Given the description of an element on the screen output the (x, y) to click on. 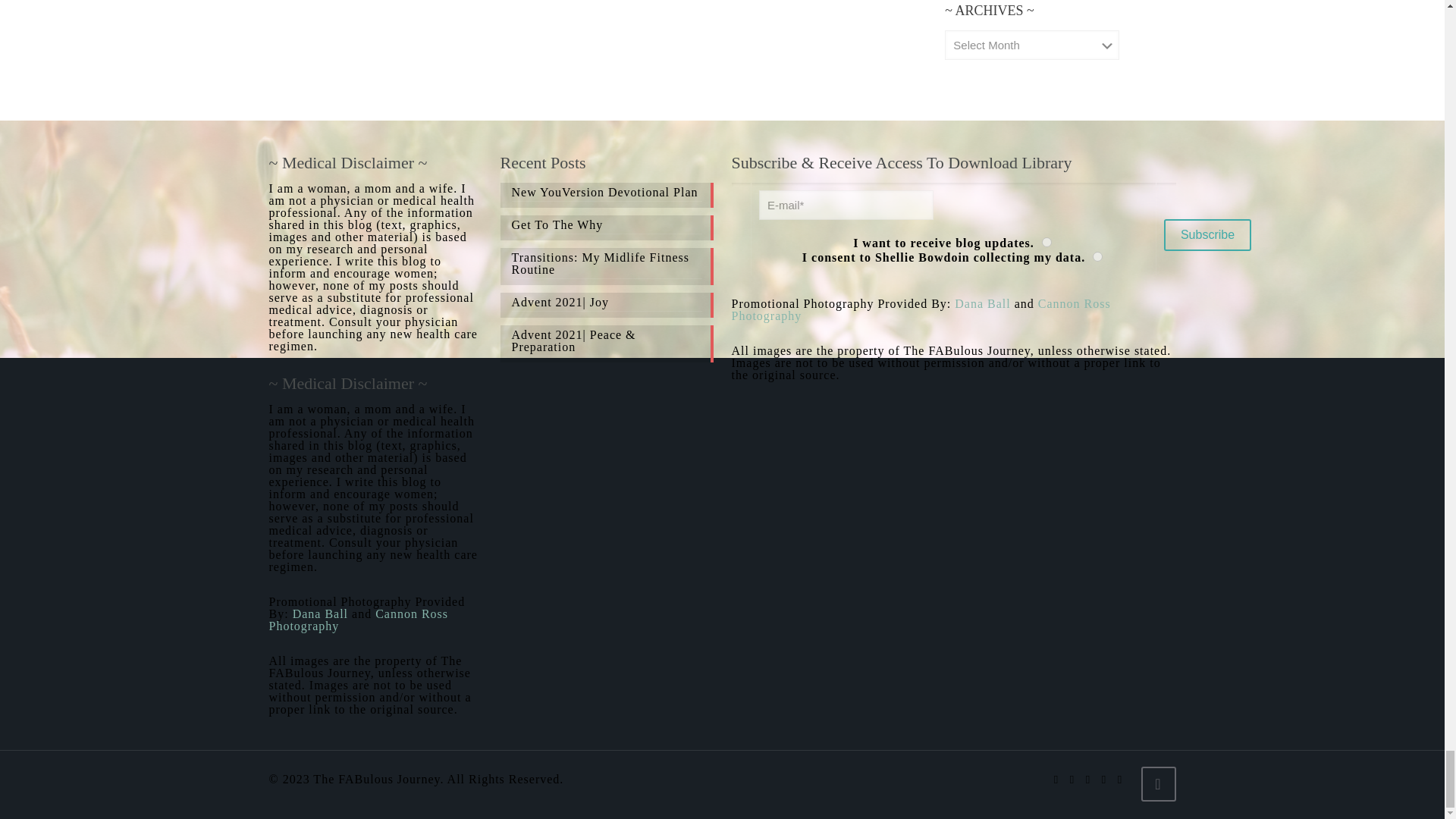
Pinterest (1103, 779)
Subscribe (1206, 234)
Yes (1046, 242)
I Consent (1097, 256)
Facebook (1056, 779)
LinkedIn (1088, 779)
